Given the description of an element on the screen output the (x, y) to click on. 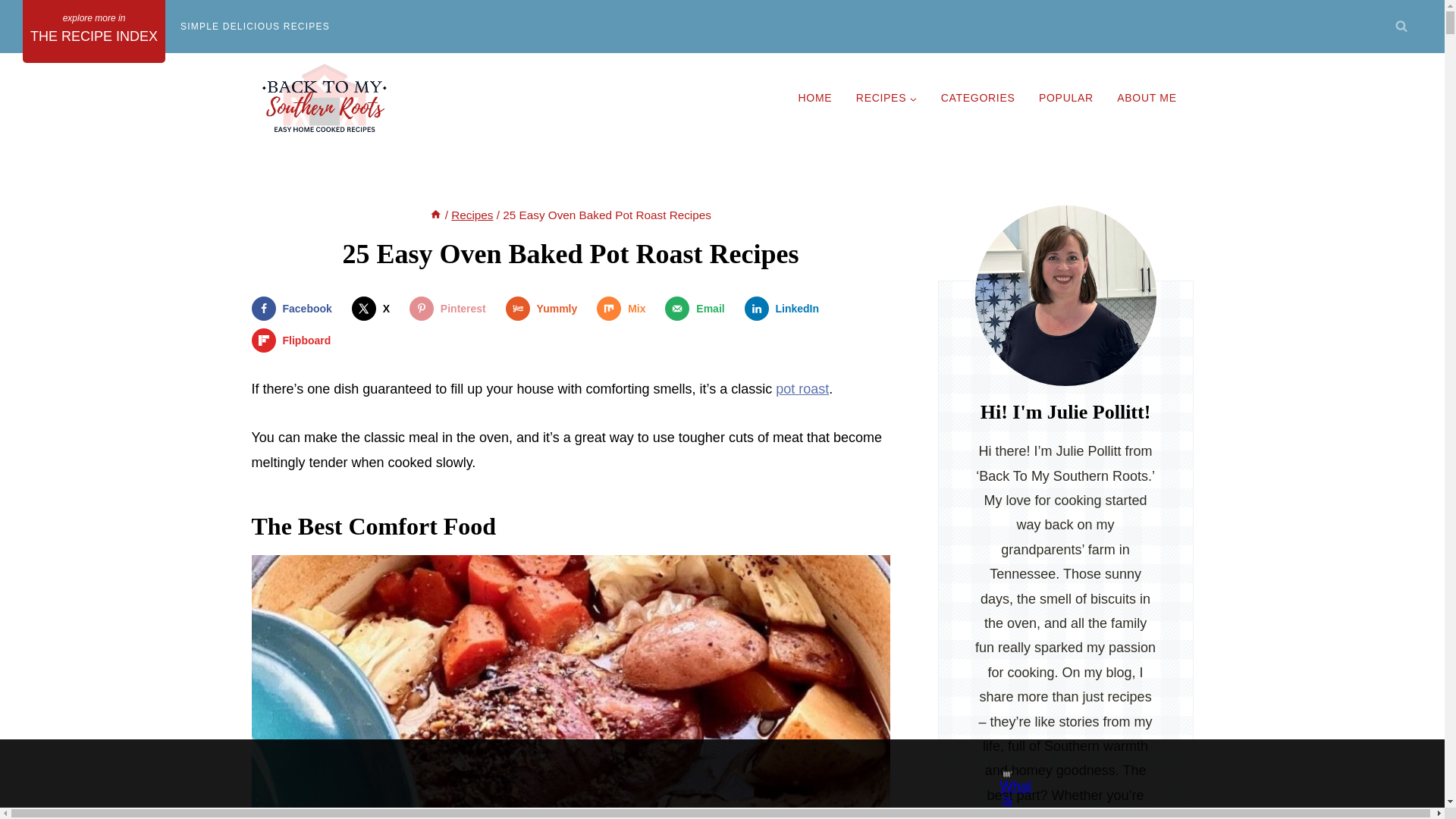
RECIPES (886, 97)
THE RECIPE INDEX (94, 31)
HOME (815, 97)
POPULAR (1065, 97)
3rd party ad content (708, 773)
Share on Flipboard (294, 340)
Share on Yummly (545, 308)
CATEGORIES (977, 97)
Share on Facebook (295, 308)
Share on LinkedIn (785, 308)
Save to Pinterest (451, 308)
Share on Mix (624, 308)
Send over email (697, 308)
ABOUT ME (1147, 97)
Share on X (374, 308)
